Given the description of an element on the screen output the (x, y) to click on. 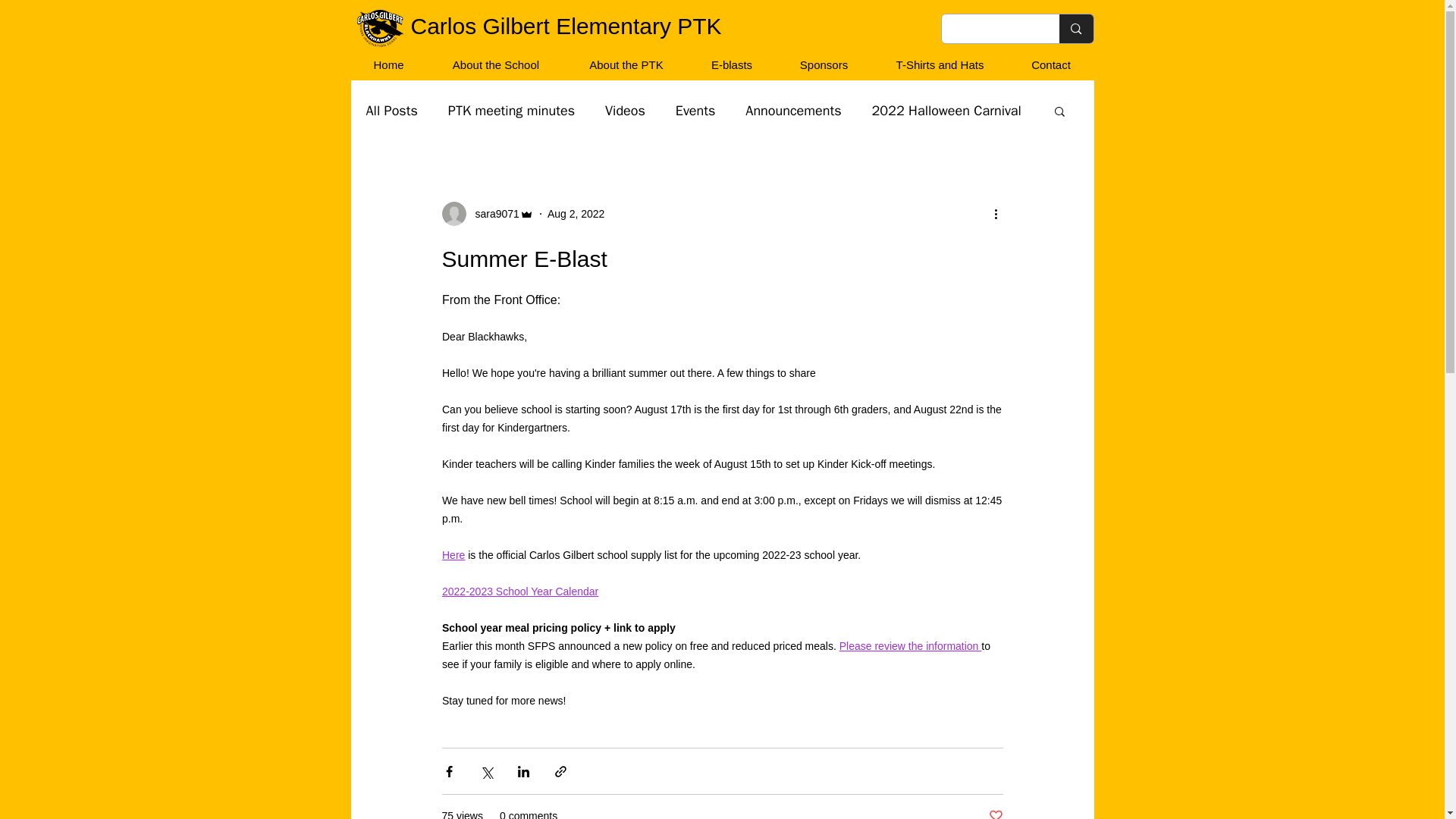
About the PTK (625, 64)
Post not marked as liked (995, 813)
Announcements (793, 110)
sara9071 (486, 213)
T-Shirts and Hats (939, 64)
Sponsors (822, 64)
PTK meeting minutes (511, 110)
sara9071 (491, 213)
Carlos Gilbert Elementary PTK (566, 25)
All Posts (390, 110)
2022-2023 School Year Calendar (518, 590)
Events (695, 110)
Contact (1050, 64)
E-blasts (730, 64)
Videos (625, 110)
